Given the description of an element on the screen output the (x, y) to click on. 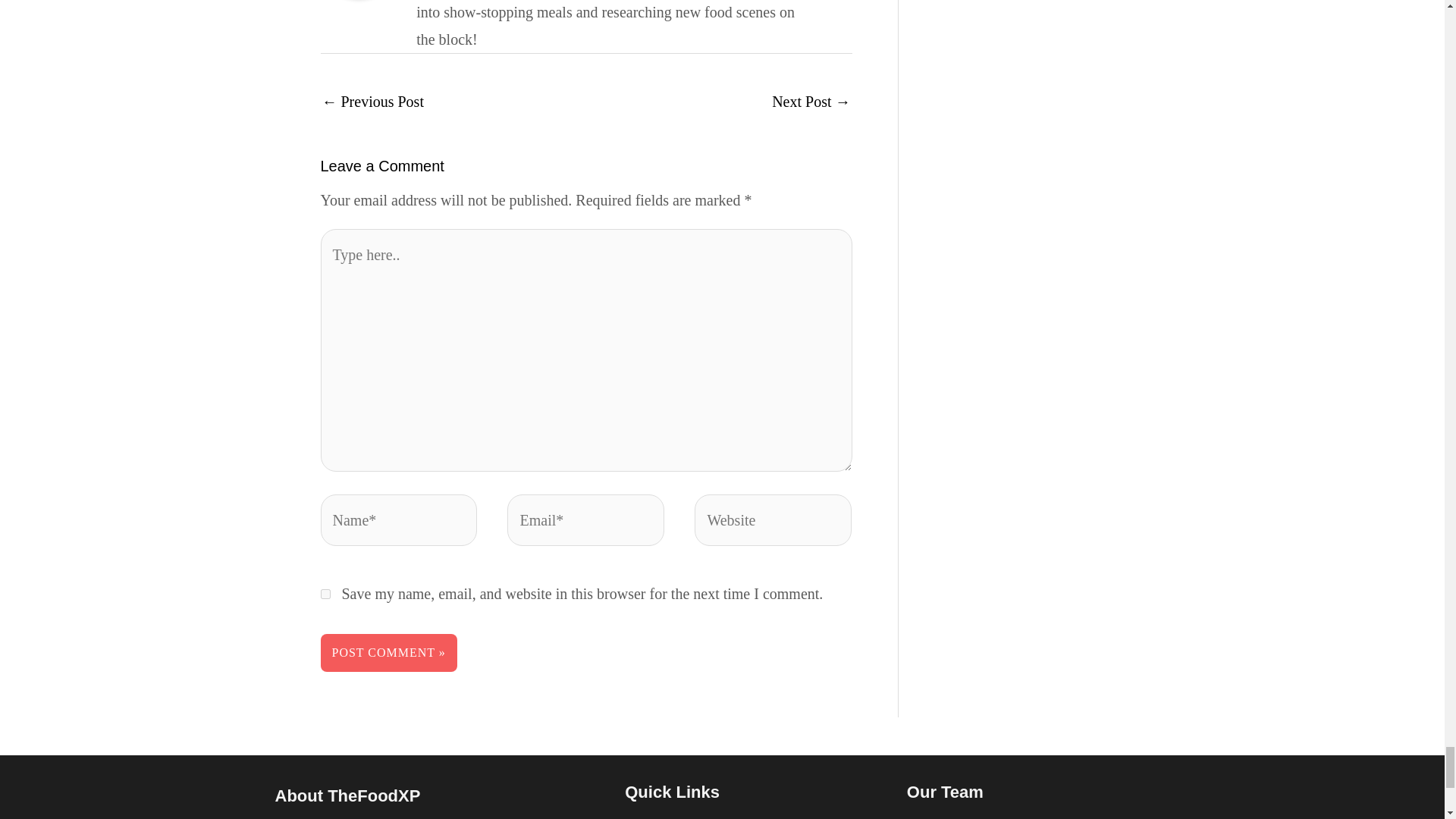
Classic Bobby Flay Chocolate Mousse Recipe (810, 103)
yes (325, 593)
Amazing Bobby Flay Spicy BBQ Ribs Recipe (372, 103)
